Given the description of an element on the screen output the (x, y) to click on. 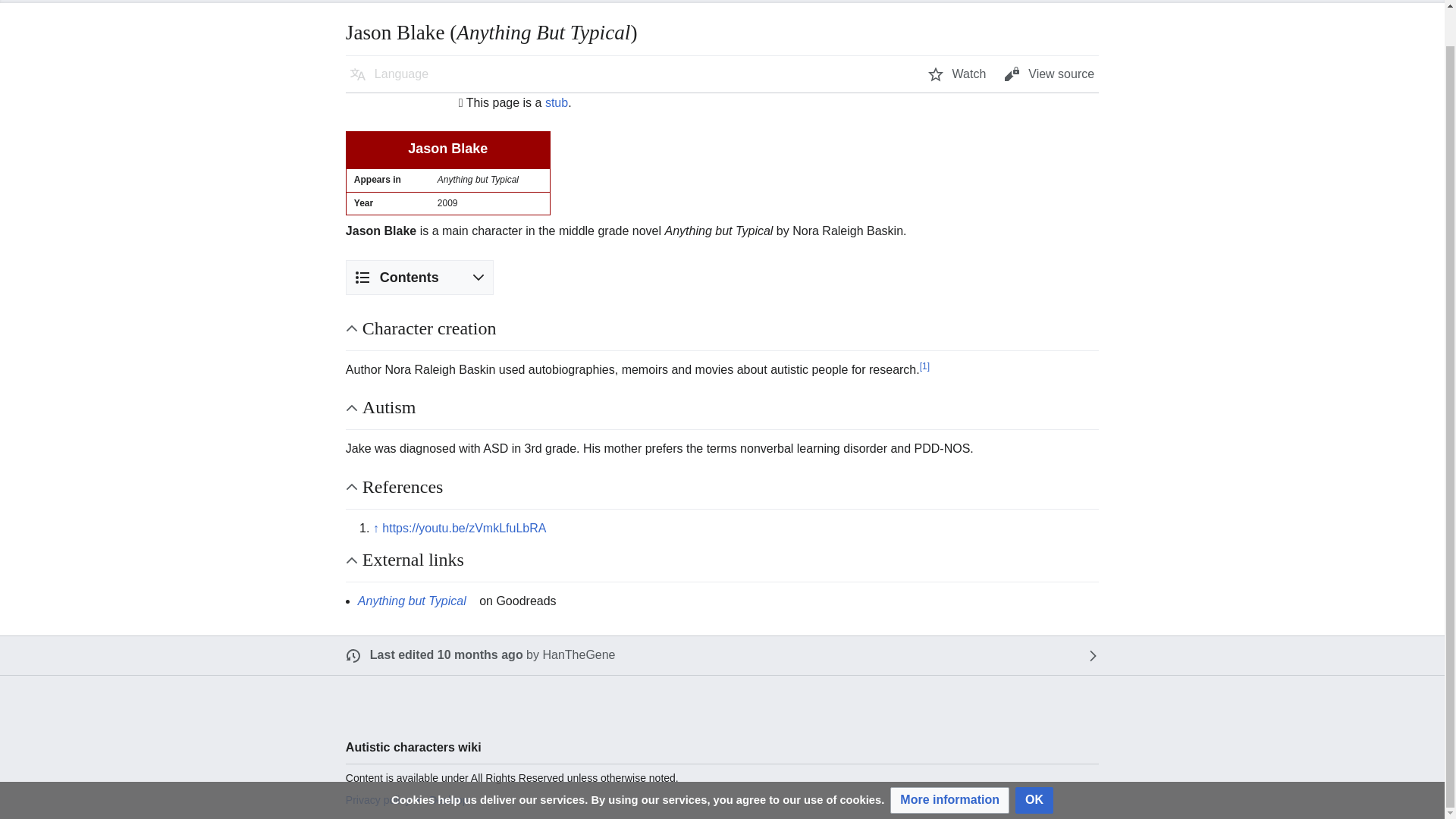
Language (389, 73)
Desktop (448, 799)
Watch (956, 73)
Anything but Typical (417, 600)
Category:Stubs (555, 102)
Privacy policy (378, 799)
OK (1033, 762)
Language (389, 73)
More information (949, 762)
View source (1048, 73)
stub (555, 102)
